Given the description of an element on the screen output the (x, y) to click on. 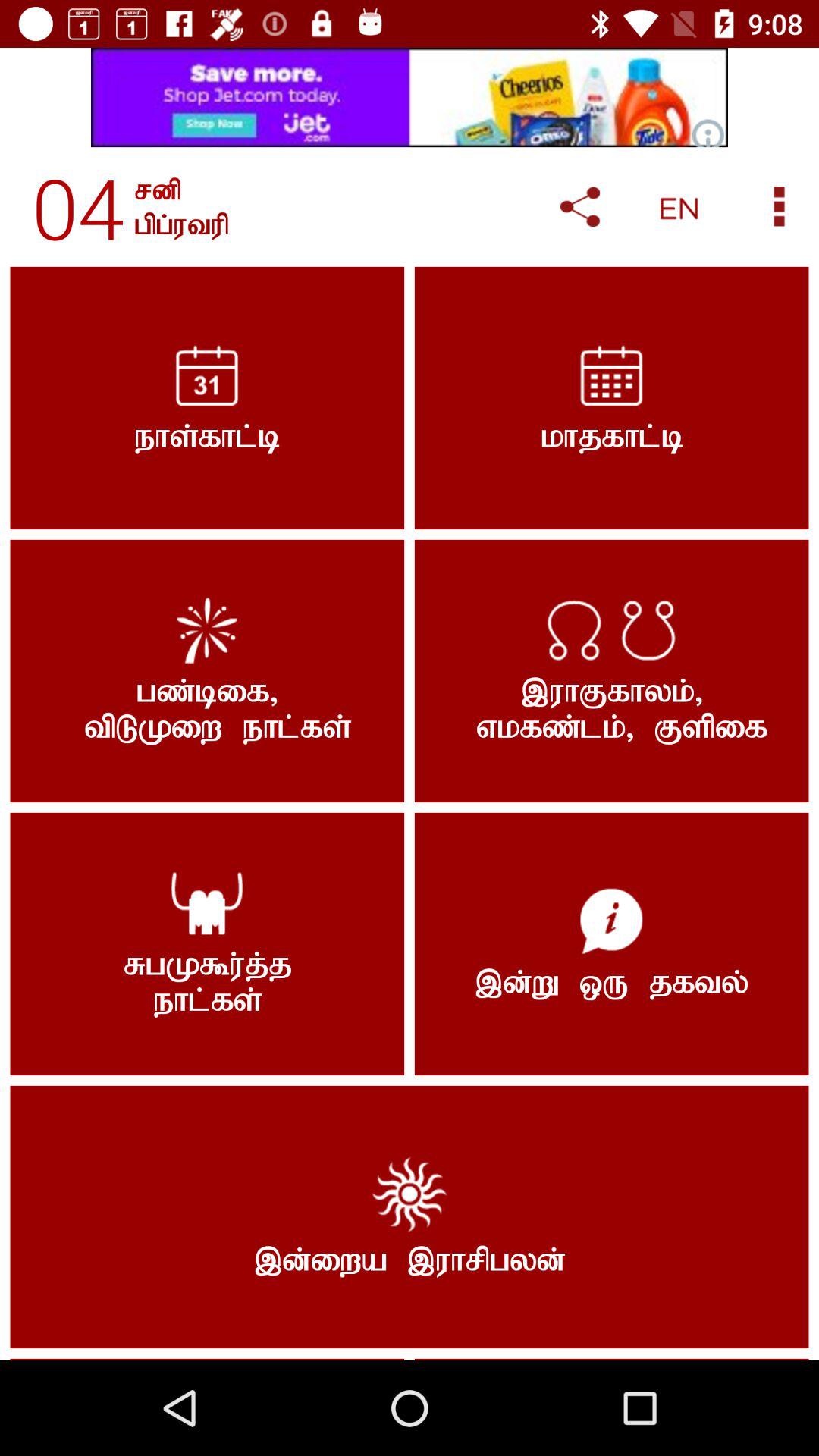
more information (779, 206)
